Given the description of an element on the screen output the (x, y) to click on. 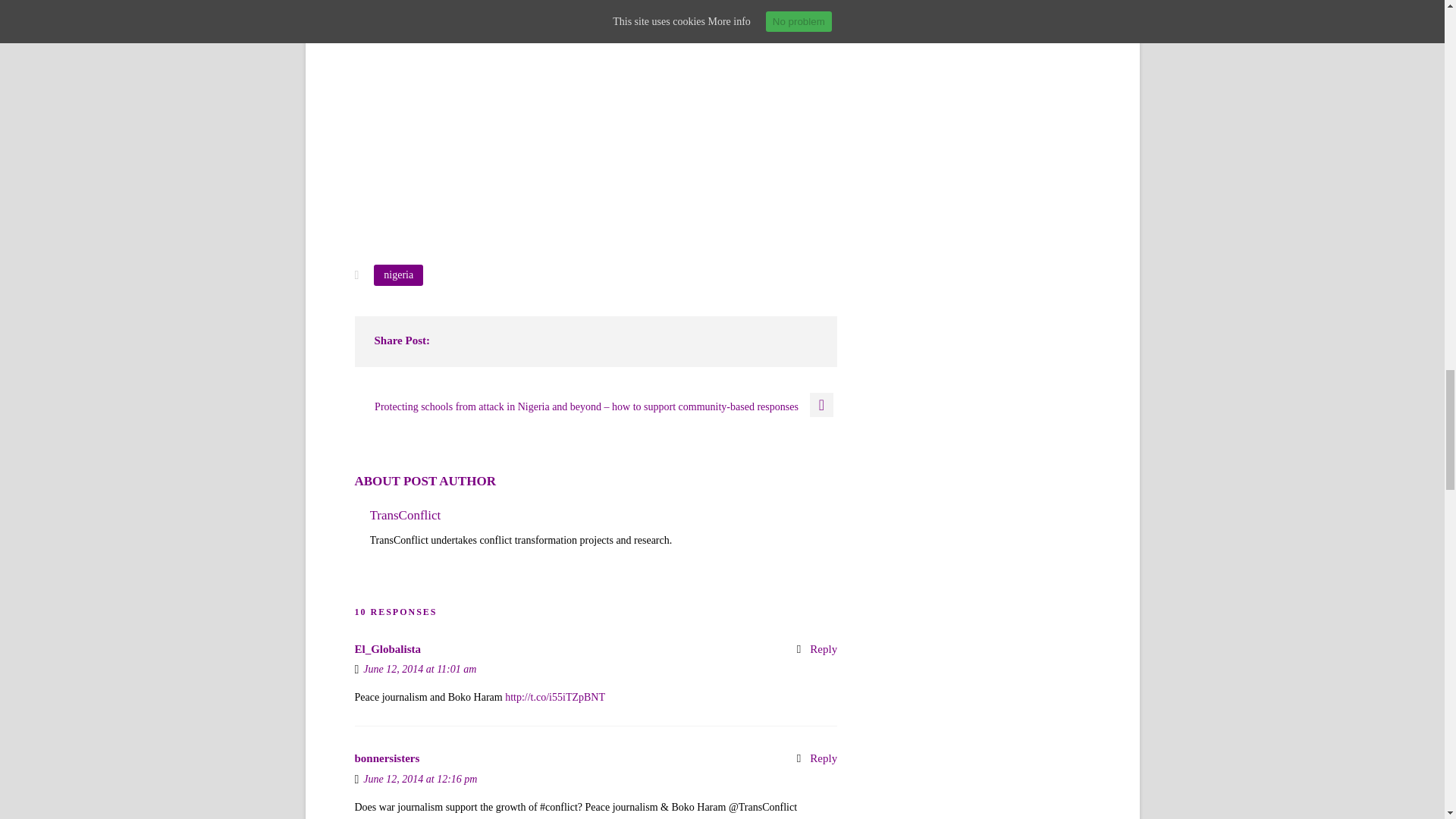
Share on Facebook (511, 121)
Share on Twitter (567, 121)
Share on Linkedin (623, 121)
